Given the description of an element on the screen output the (x, y) to click on. 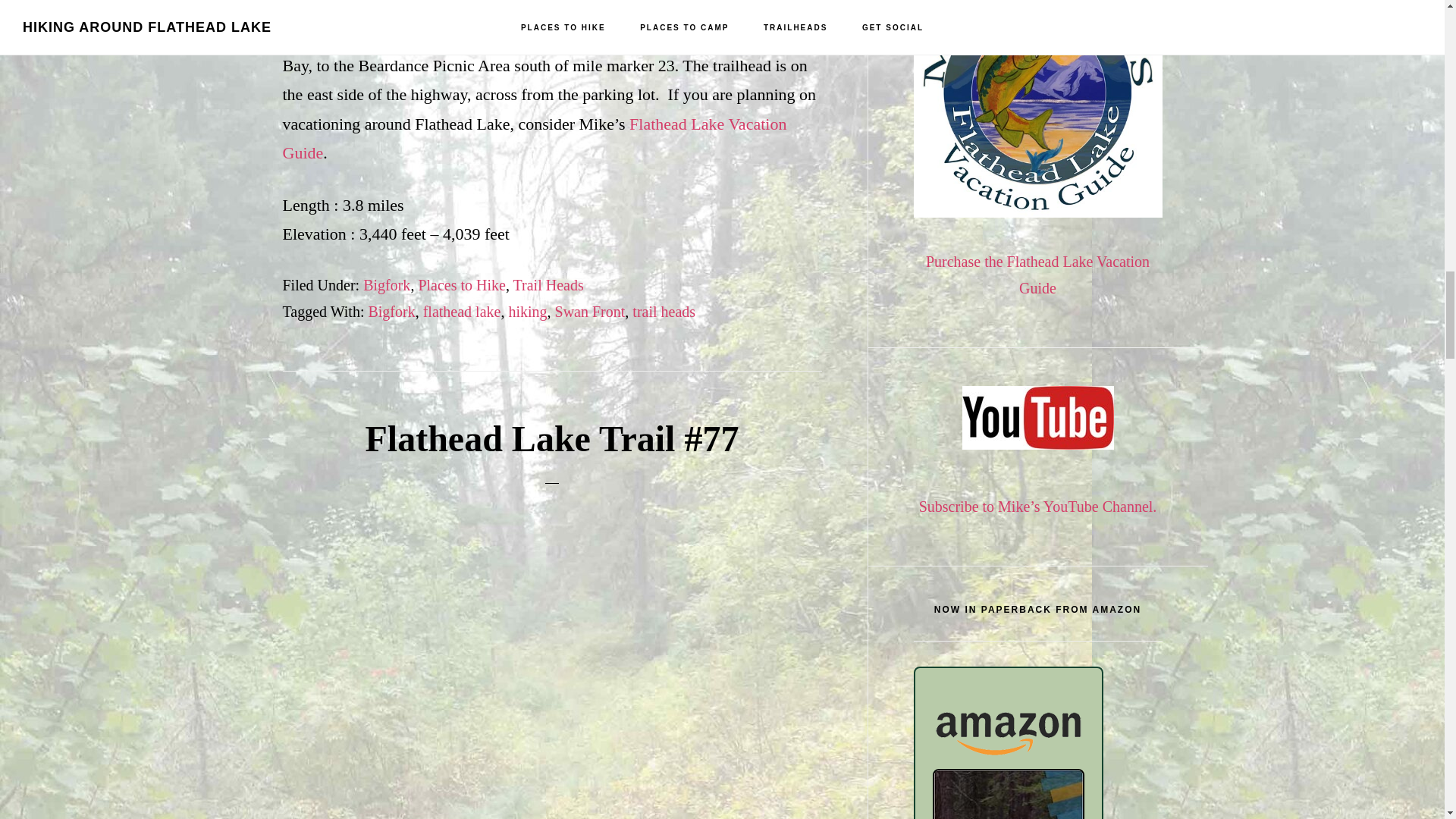
Bigfork (386, 284)
trail heads (663, 311)
Swan Front (590, 311)
hiking (527, 311)
Places to Hike (461, 284)
Bigfork (391, 311)
Flathead Lake Vacation Guide (534, 138)
Trail Heads (548, 284)
flathead lake (461, 311)
